Given the description of an element on the screen output the (x, y) to click on. 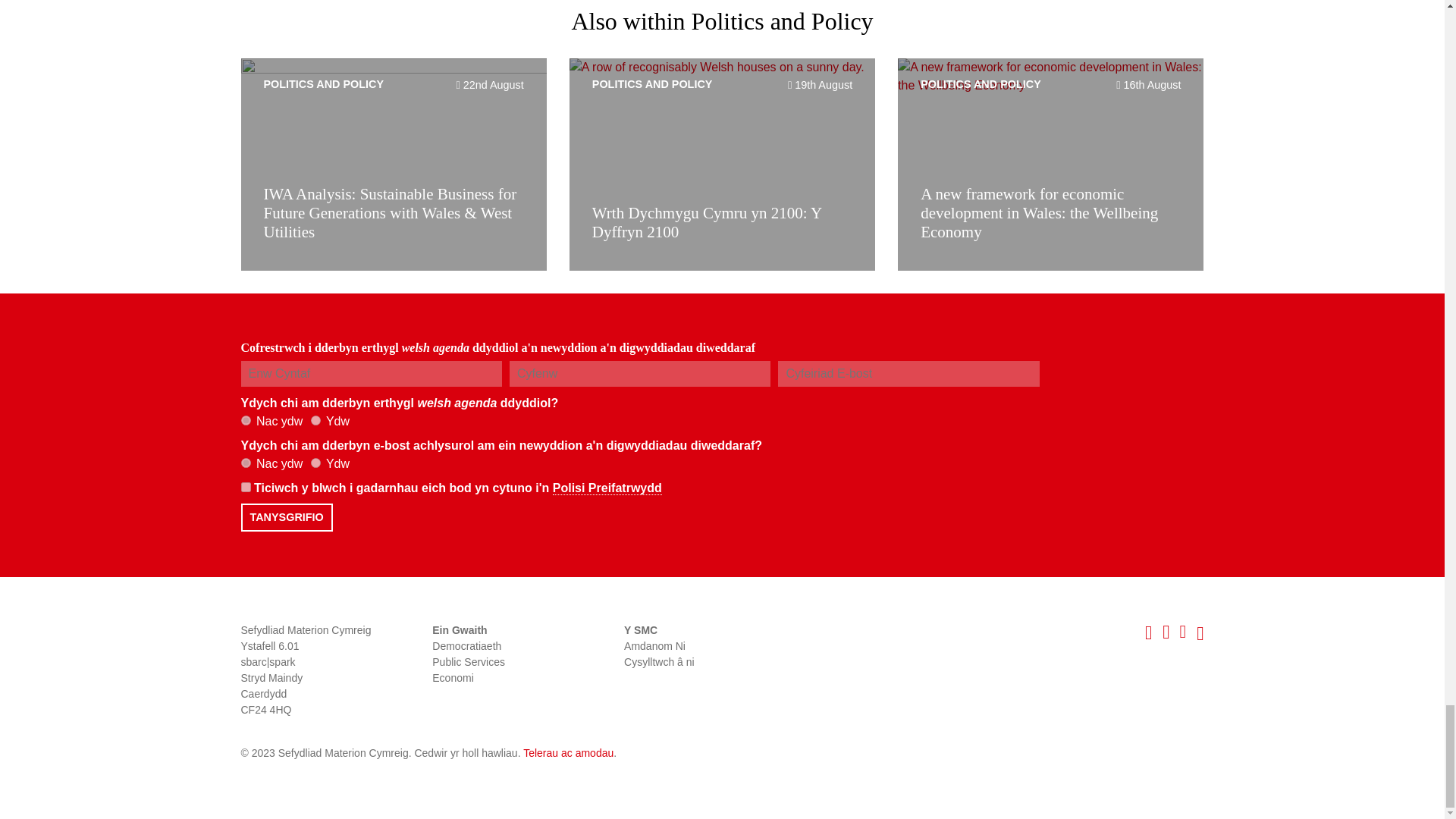
No (245, 462)
No (245, 420)
Yes (315, 420)
on (245, 487)
Yes (315, 462)
Tanysgrifio (287, 516)
